Given the description of an element on the screen output the (x, y) to click on. 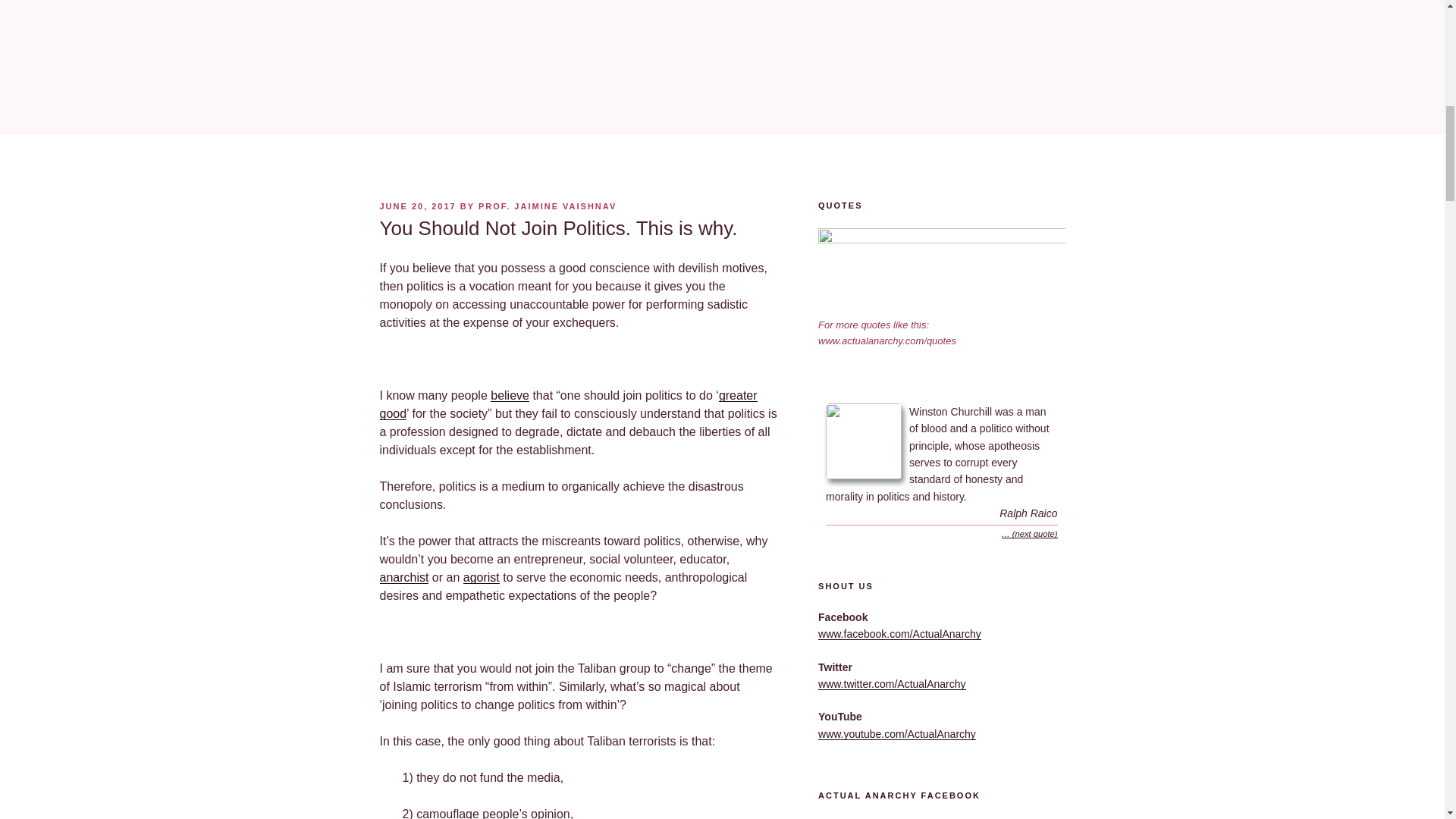
agorist (481, 576)
believe (509, 395)
JUNE 20, 2017 (416, 205)
anarchist (403, 576)
PROF. JAIMINE VAISHNAV (547, 205)
greater good (567, 404)
